Given the description of an element on the screen output the (x, y) to click on. 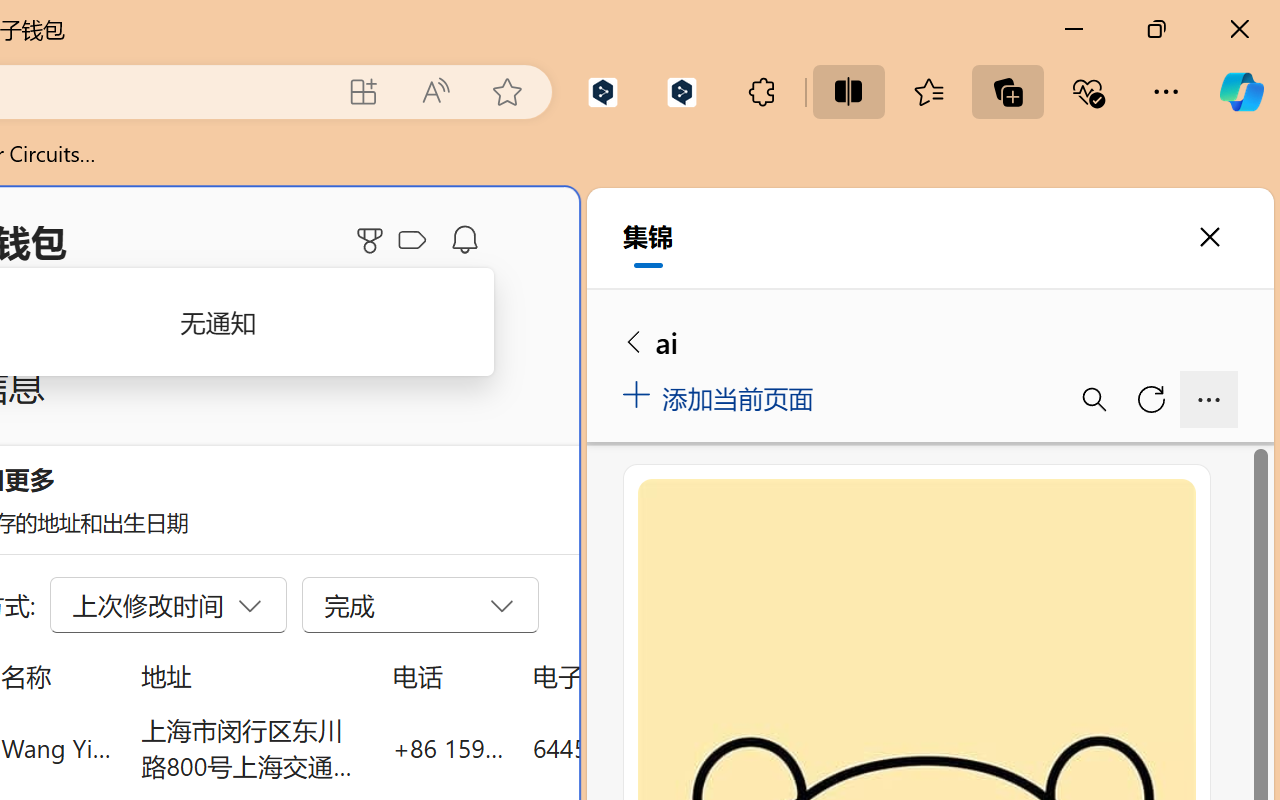
Microsoft Cashback (415, 241)
644553698@qq.com (644, 747)
Microsoft Rewards (373, 240)
